Given the description of an element on the screen output the (x, y) to click on. 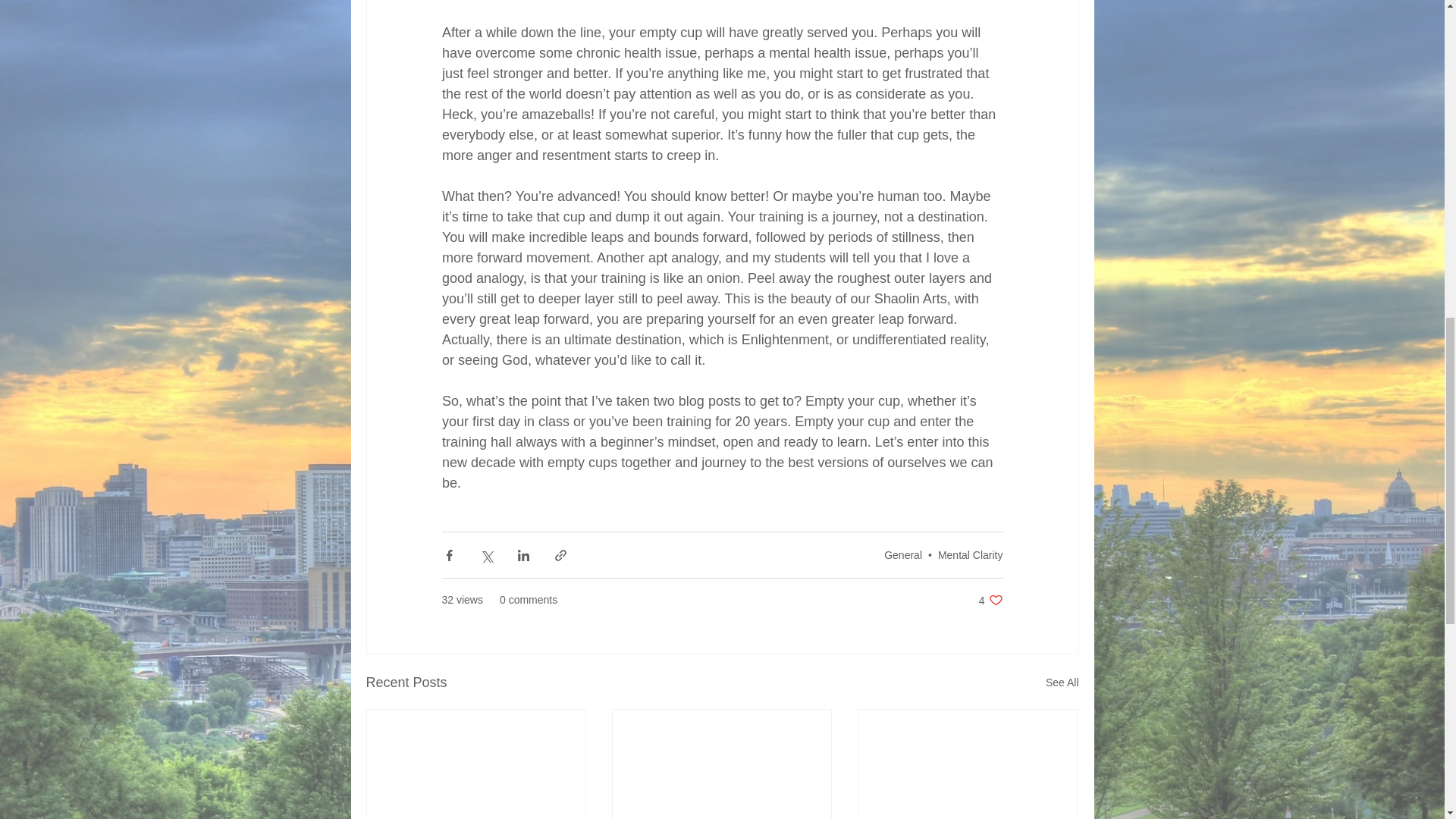
Mental Clarity (970, 554)
General (902, 554)
